Given the description of an element on the screen output the (x, y) to click on. 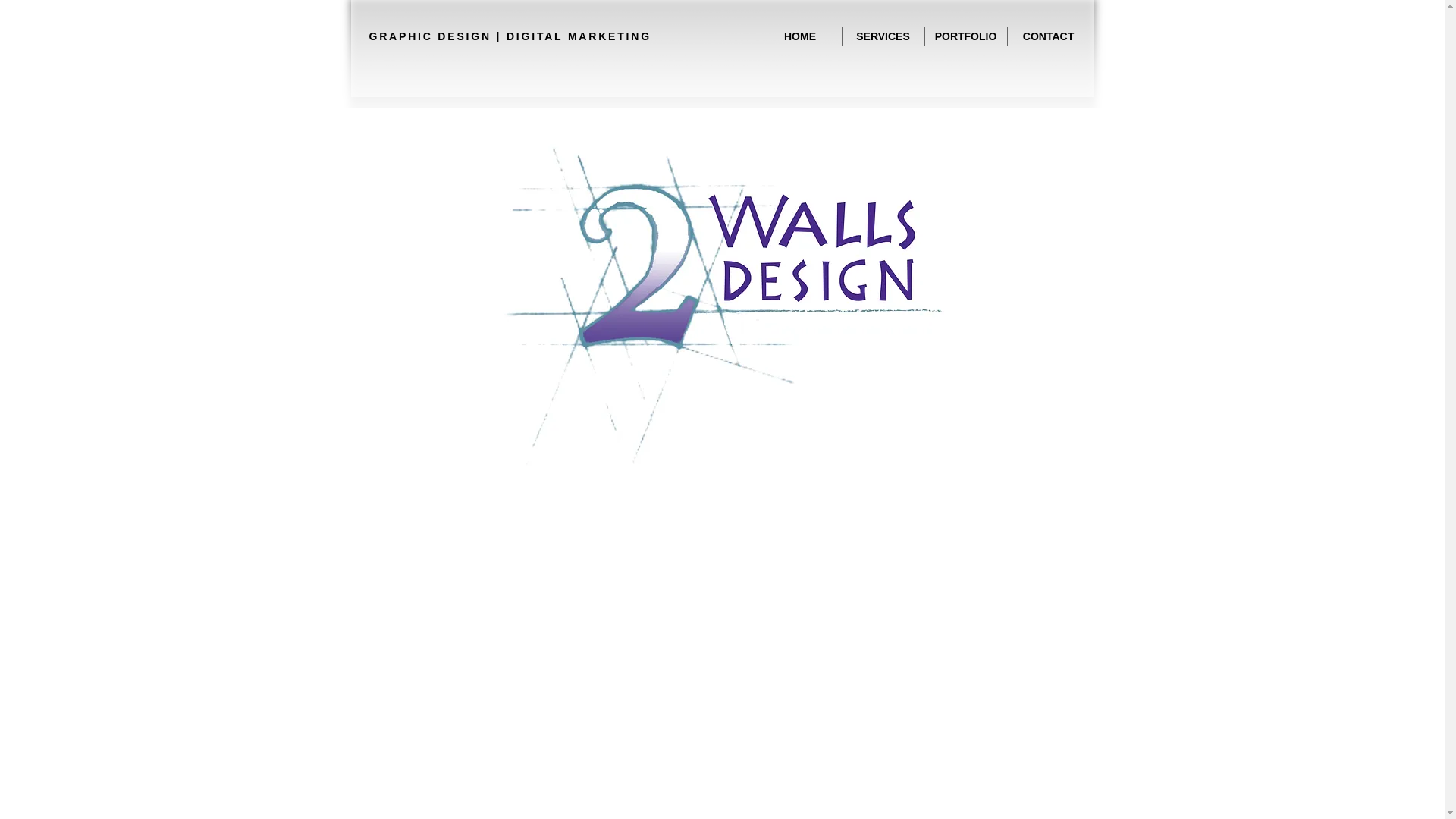
SERVICES Element type: text (882, 36)
HOME Element type: text (799, 36)
CONTACT Element type: text (1047, 36)
2 Walls Design NEW LOGO 2015 for web_edi Element type: hover (721, 296)
PORTFOLIO Element type: text (966, 36)
